Given the description of an element on the screen output the (x, y) to click on. 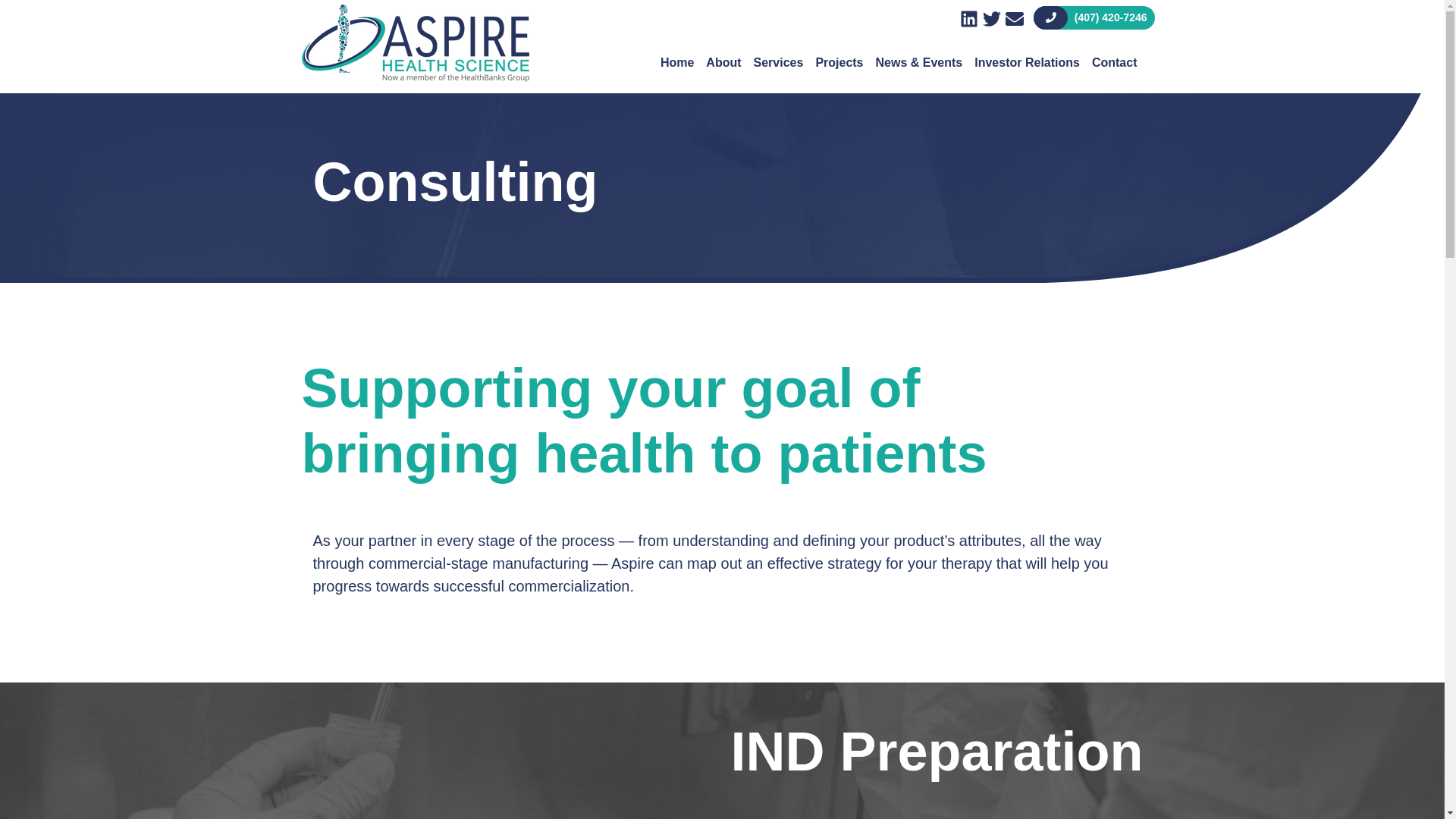
Investor Relations (1027, 43)
Services (778, 43)
Services (778, 43)
Investor Relations (1027, 43)
